Given the description of an element on the screen output the (x, y) to click on. 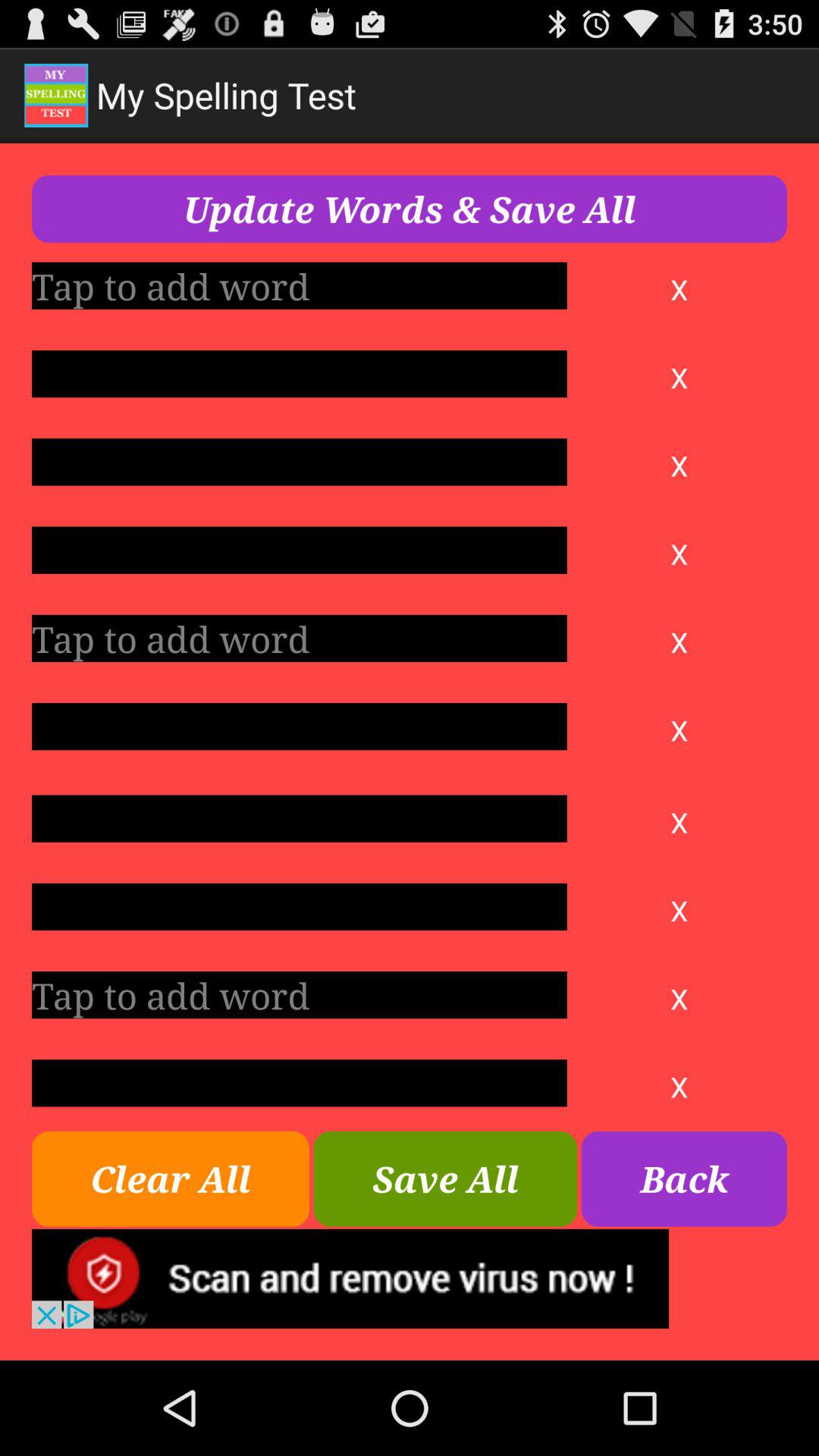
just select option (299, 373)
